Given the description of an element on the screen output the (x, y) to click on. 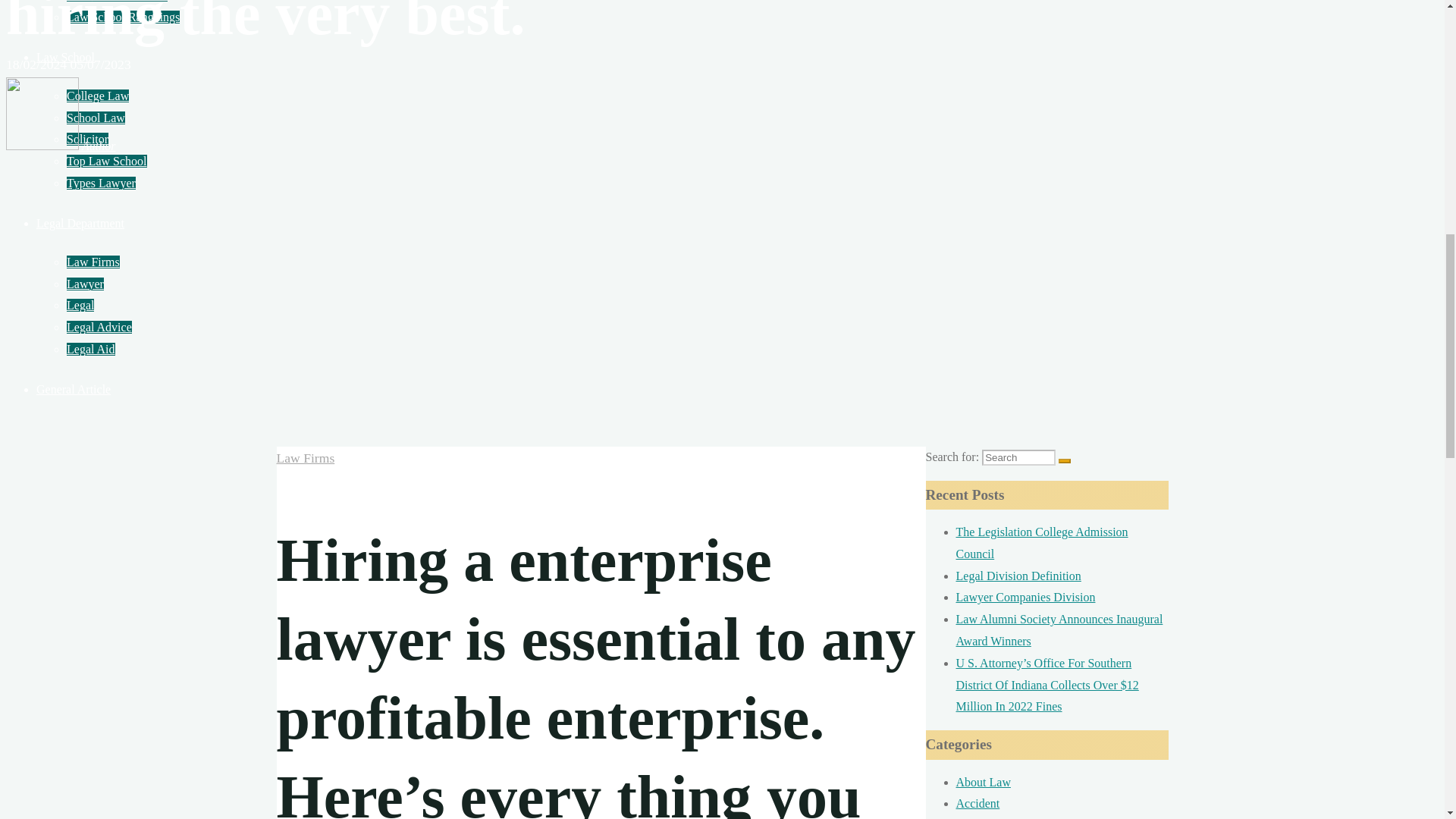
Author (60, 145)
Legal Department (79, 223)
Types Lawyer (100, 182)
Legal Advice (99, 327)
View all posts by Author (60, 145)
College Law (97, 95)
Law Firms (92, 261)
Lawyer (84, 283)
Top Law School (106, 160)
General Article (73, 389)
School Law (95, 117)
Legal (80, 305)
Law Firms (305, 458)
Law School Rangkings (122, 16)
Solicitor (86, 138)
